Given the description of an element on the screen output the (x, y) to click on. 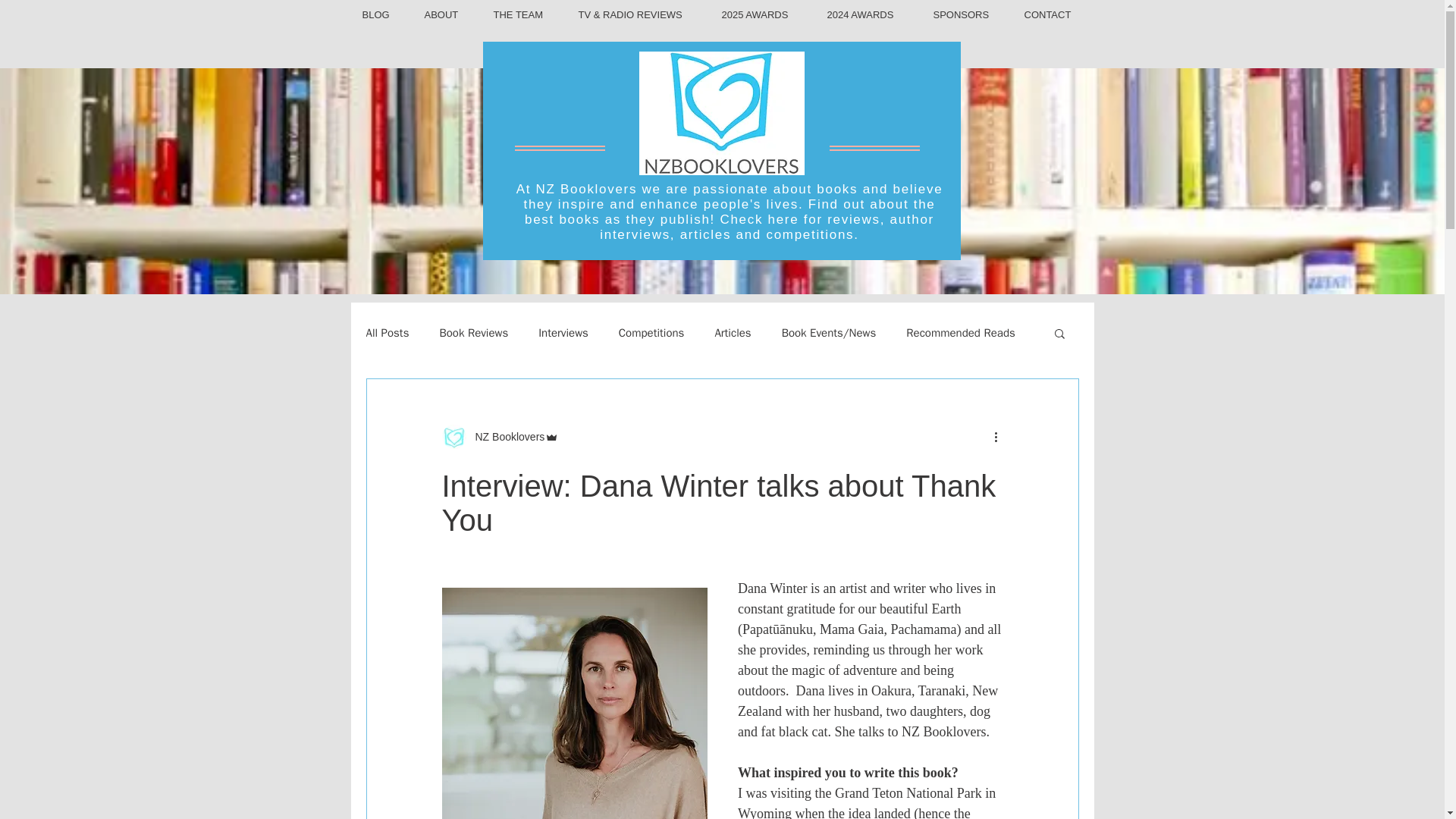
CONTACT (1053, 15)
BLOG (381, 15)
2024 AWARDS (868, 15)
Competitions (651, 332)
NZ Booklovers (504, 437)
Articles (732, 332)
All Posts (387, 332)
Book Reviews (473, 332)
Interviews (563, 332)
ABOUT (446, 15)
2025 AWARDS (762, 15)
SPONSORS (967, 15)
THE TEAM (524, 15)
Recommended Reads (959, 332)
